Given the description of an element on the screen output the (x, y) to click on. 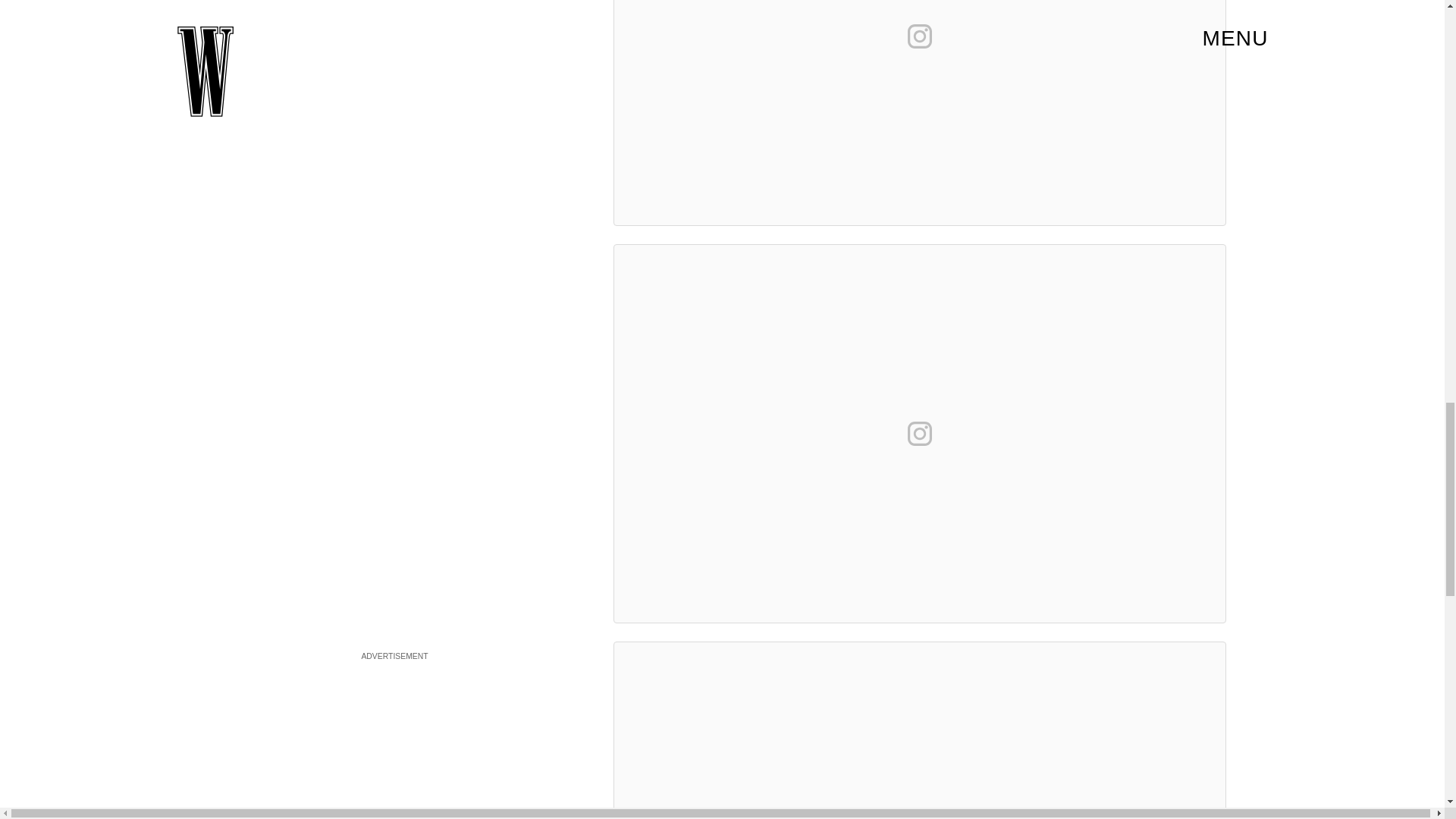
View on Instagram (919, 36)
View on Instagram (919, 433)
View on Instagram (919, 816)
